Given the description of an element on the screen output the (x, y) to click on. 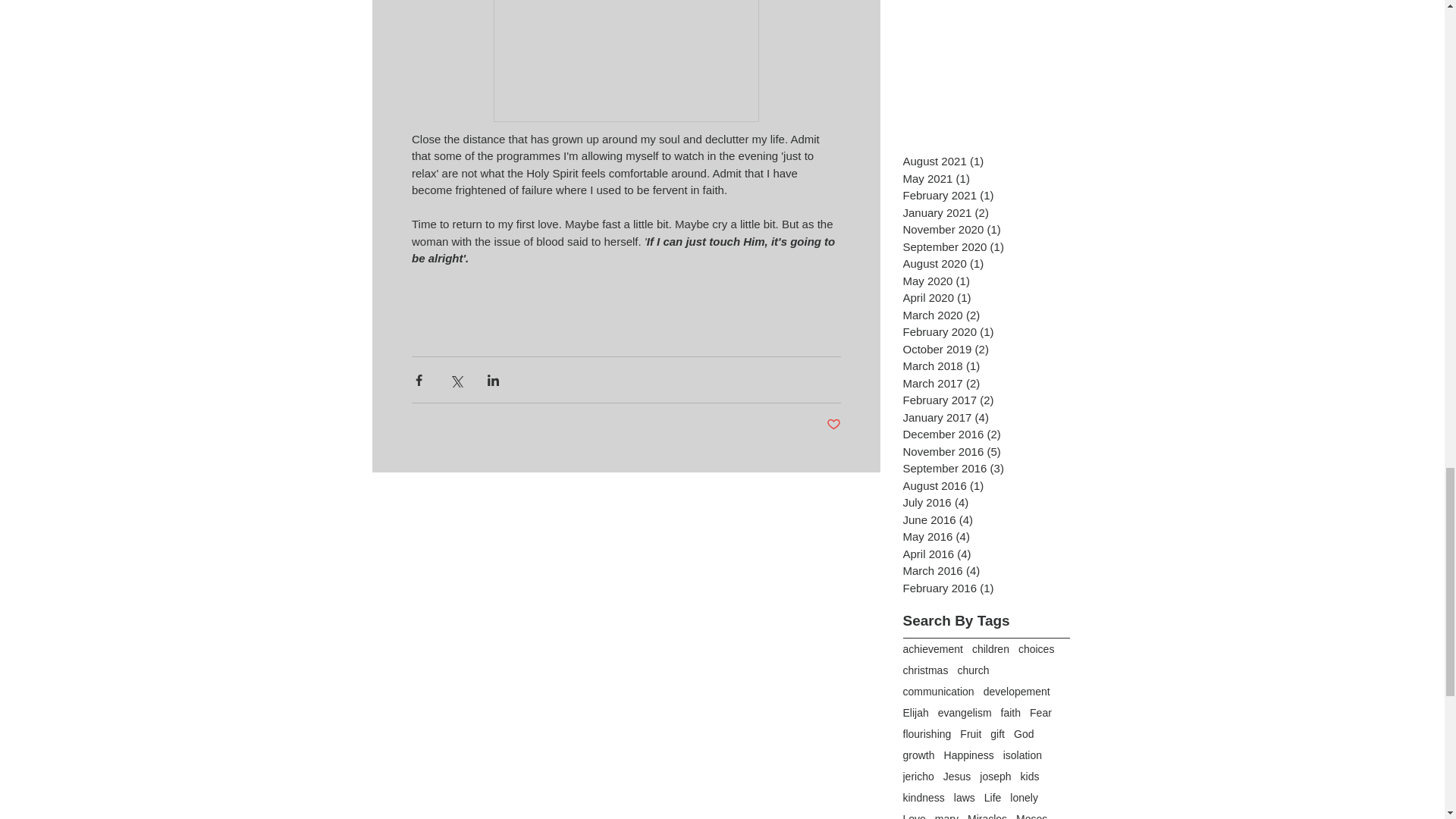
Post not marked as liked (834, 424)
